Given the description of an element on the screen output the (x, y) to click on. 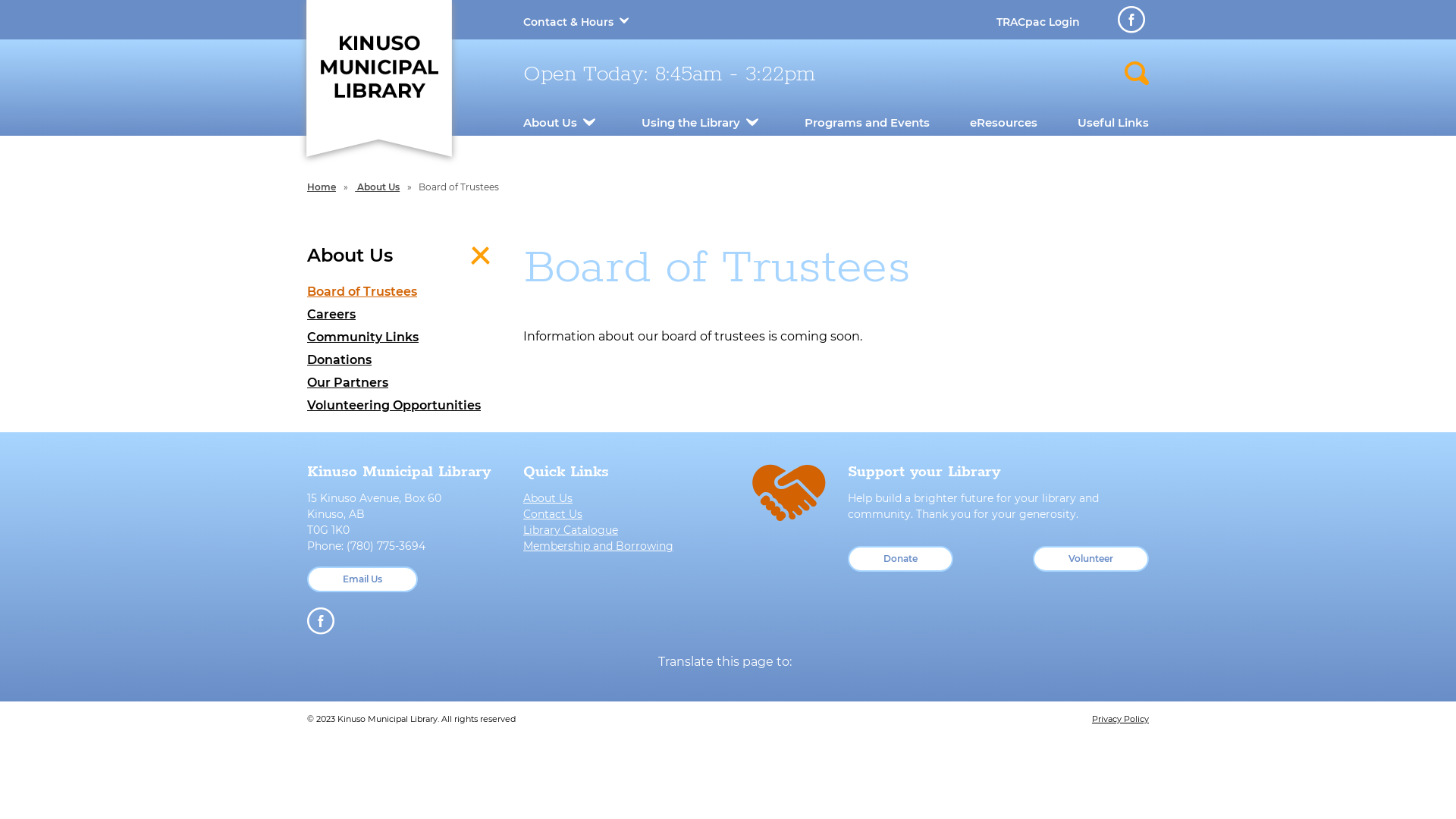
About Us Element type: text (376, 186)
Useful Links Element type: text (1112, 122)
Volunteer Element type: text (1090, 558)
Board of Trustees Element type: text (403, 291)
Facebook Element type: hover (320, 620)
Membership and Borrowing Element type: text (619, 546)
Kinuso Municipal Library Element type: hover (378, 69)
Community Links Element type: text (403, 337)
Email Us Element type: text (362, 579)
Programs and Events Element type: text (866, 122)
Volunteering Opportunities Element type: text (403, 405)
Donate Element type: text (900, 558)
Our Partners Element type: text (403, 382)
About Us Element type: text (619, 498)
Library Catalogue Element type: text (619, 530)
About Us
Toggle navigation Element type: text (403, 255)
Facebook Element type: hover (1131, 19)
About Us Element type: text (550, 122)
Privacy Policy Element type: text (1120, 718)
Home Element type: text (321, 186)
Careers Element type: text (403, 314)
eResources Element type: text (1003, 122)
Using the Library Element type: text (690, 122)
Donations Element type: text (403, 359)
Contact & Hours Element type: text (568, 21)
Contact Us Element type: text (619, 514)
TRACpac Login Element type: text (1037, 21)
